Given the description of an element on the screen output the (x, y) to click on. 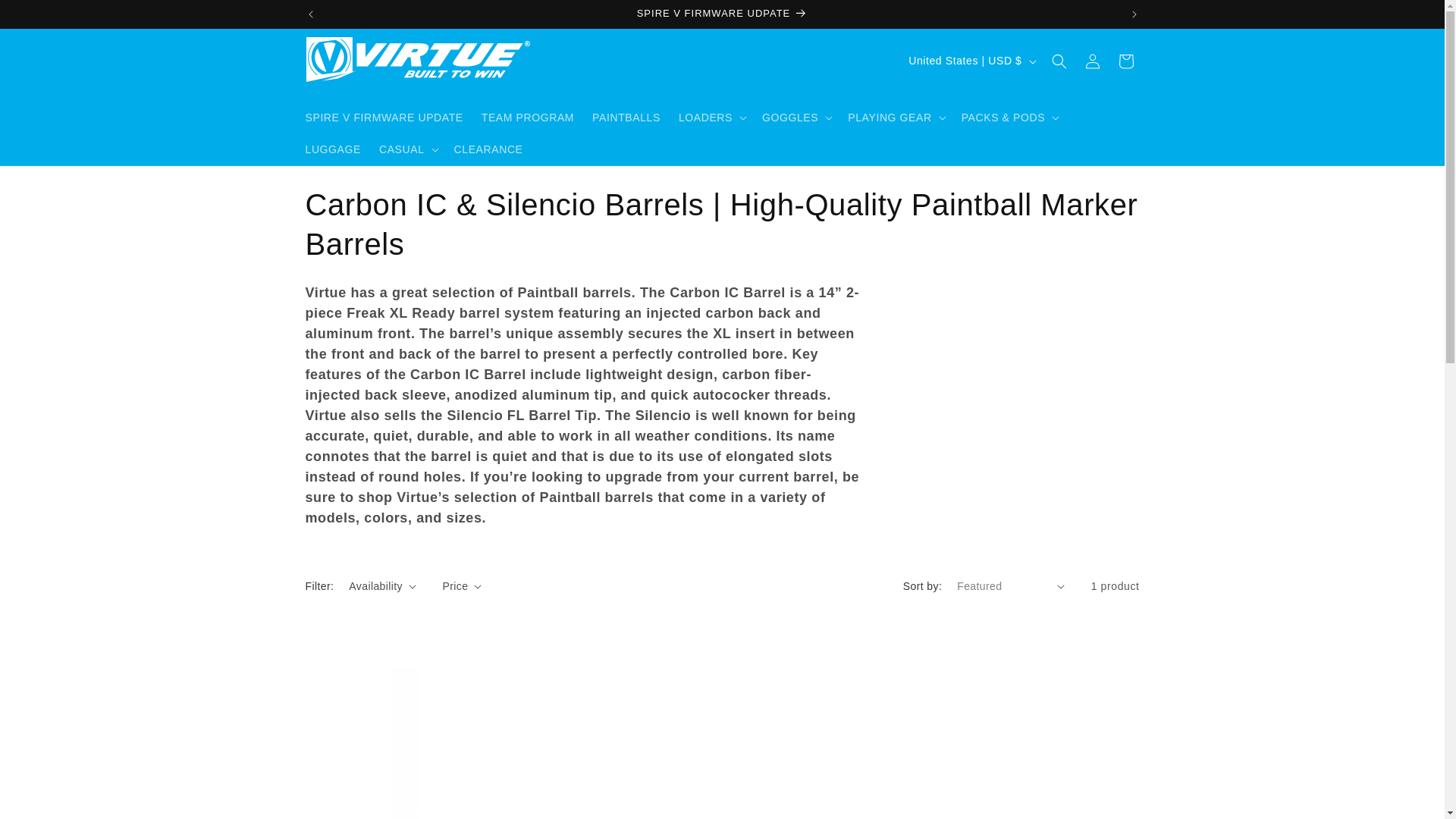
SPIRE V FIRMWARE UPDATE (383, 117)
Skip to content (45, 17)
SPIRE V FIRMWARE UDPATE (722, 14)
